Given the description of an element on the screen output the (x, y) to click on. 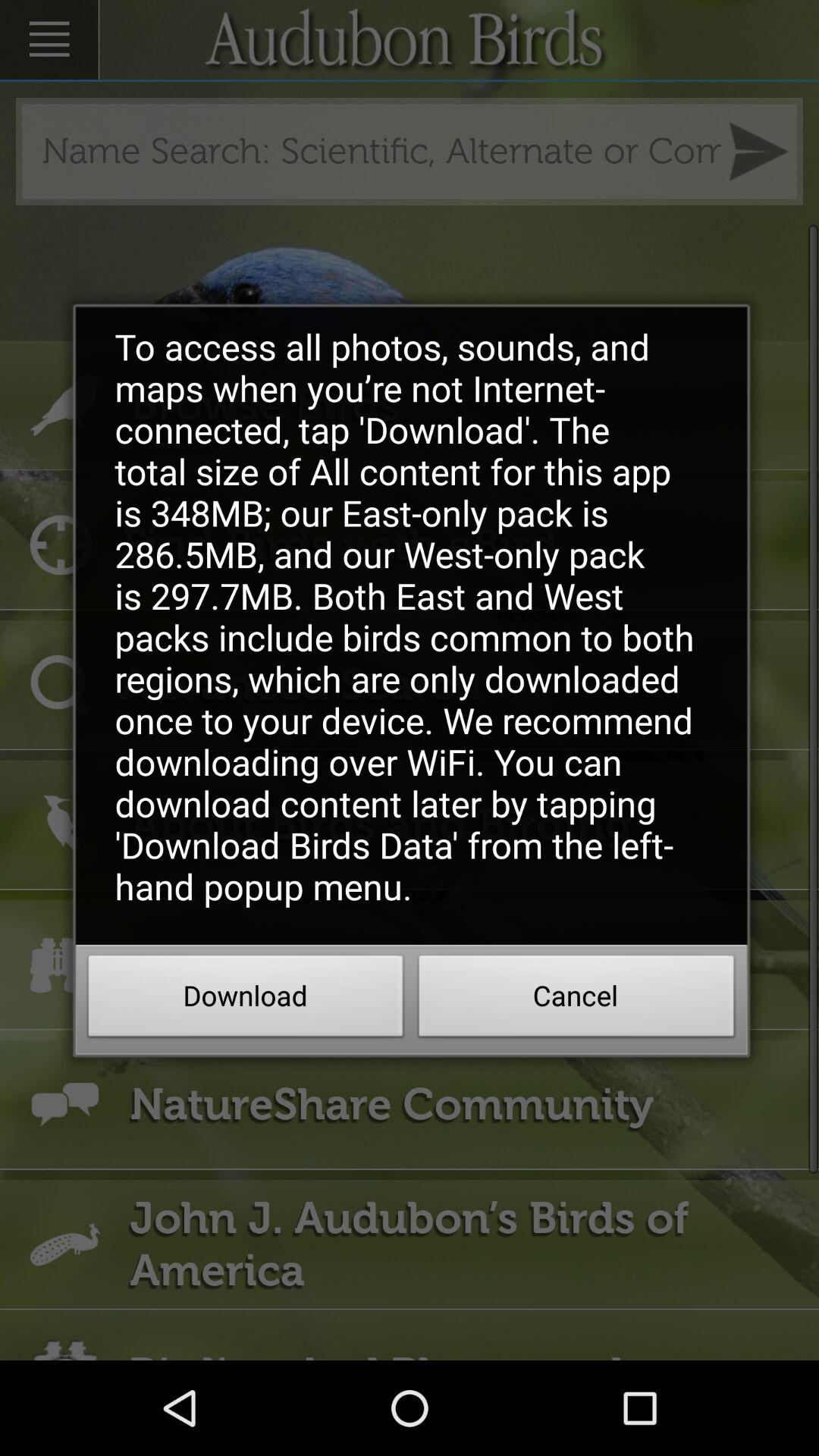
select the menu option which is on the left side of the page (49, 39)
select the icon at left side of natureshare community (64, 1105)
